Given the description of an element on the screen output the (x, y) to click on. 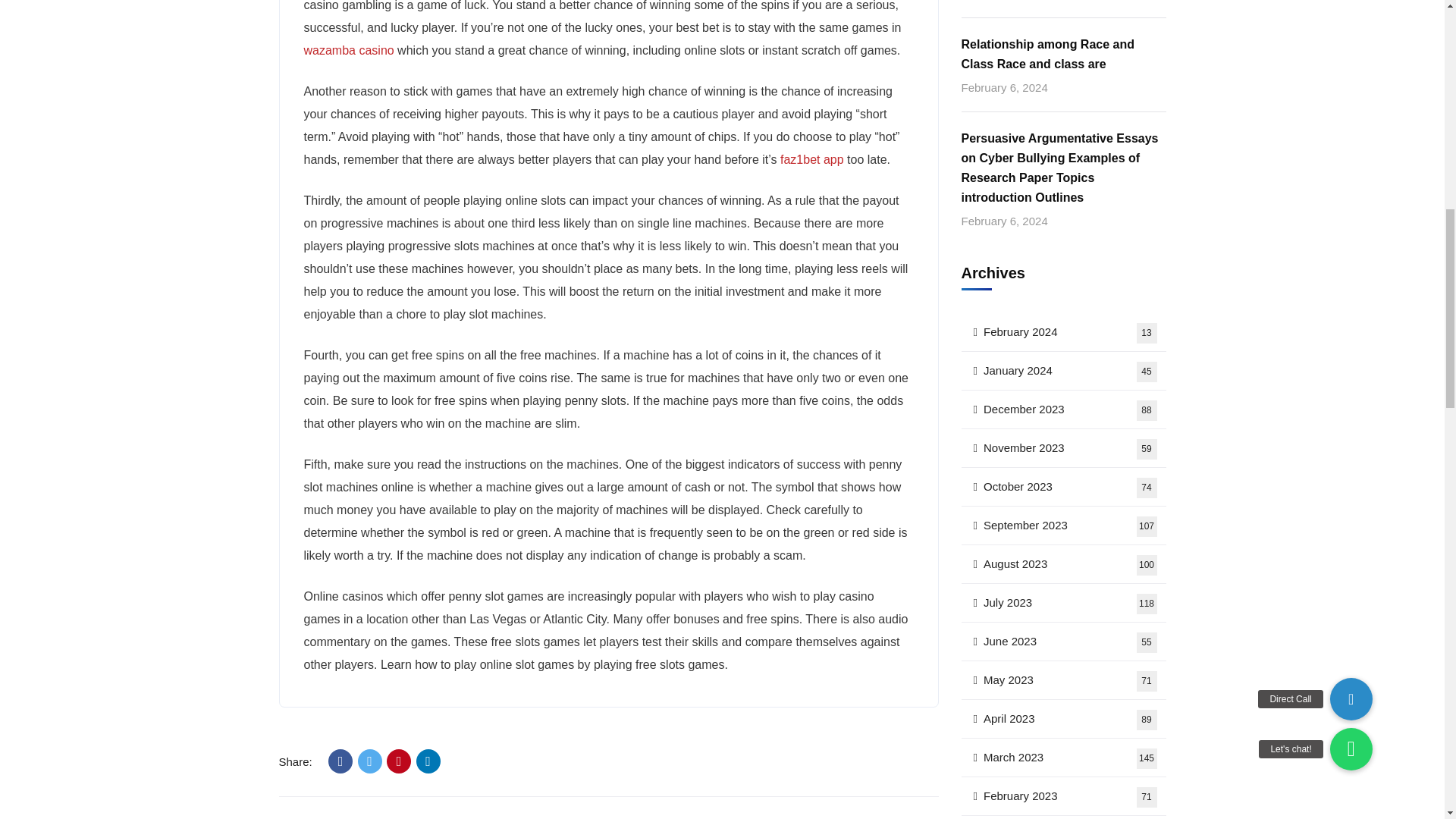
Relationship among Race and Class Race and class are (1063, 54)
Relationship among Race and Class Race and class are (1063, 54)
Facebook (1063, 332)
wazamba casino (340, 761)
Twitter (347, 50)
Pinterest (1063, 371)
LinkedIn (369, 761)
faz1bet app (398, 761)
